Given the description of an element on the screen output the (x, y) to click on. 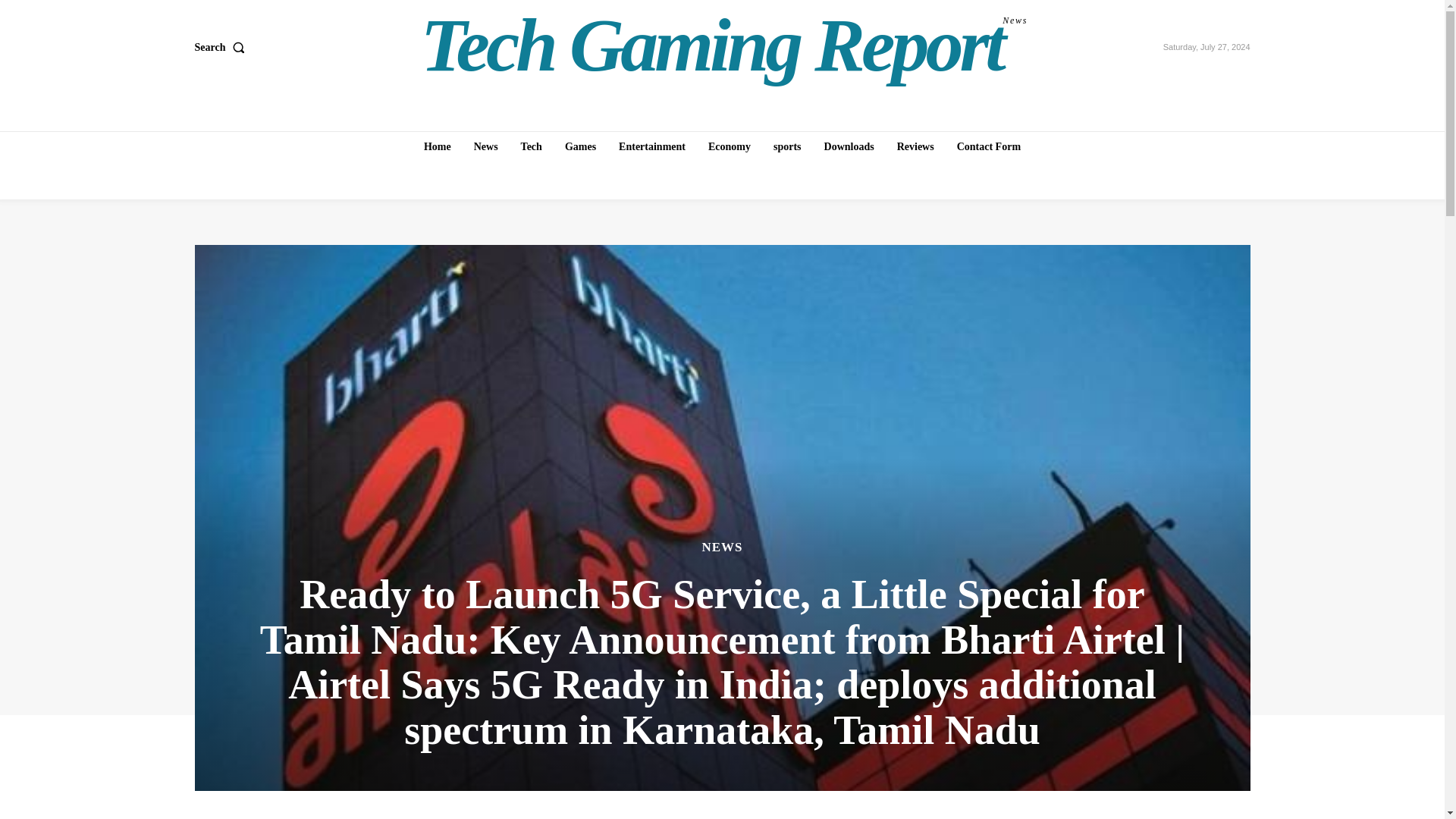
sports (787, 146)
Entertainment (652, 146)
Downloads (849, 146)
Tech (531, 146)
News (485, 146)
Games (580, 146)
Home (437, 146)
Economy (729, 146)
Search (221, 47)
Contact Form (988, 146)
Reviews (724, 45)
